Given the description of an element on the screen output the (x, y) to click on. 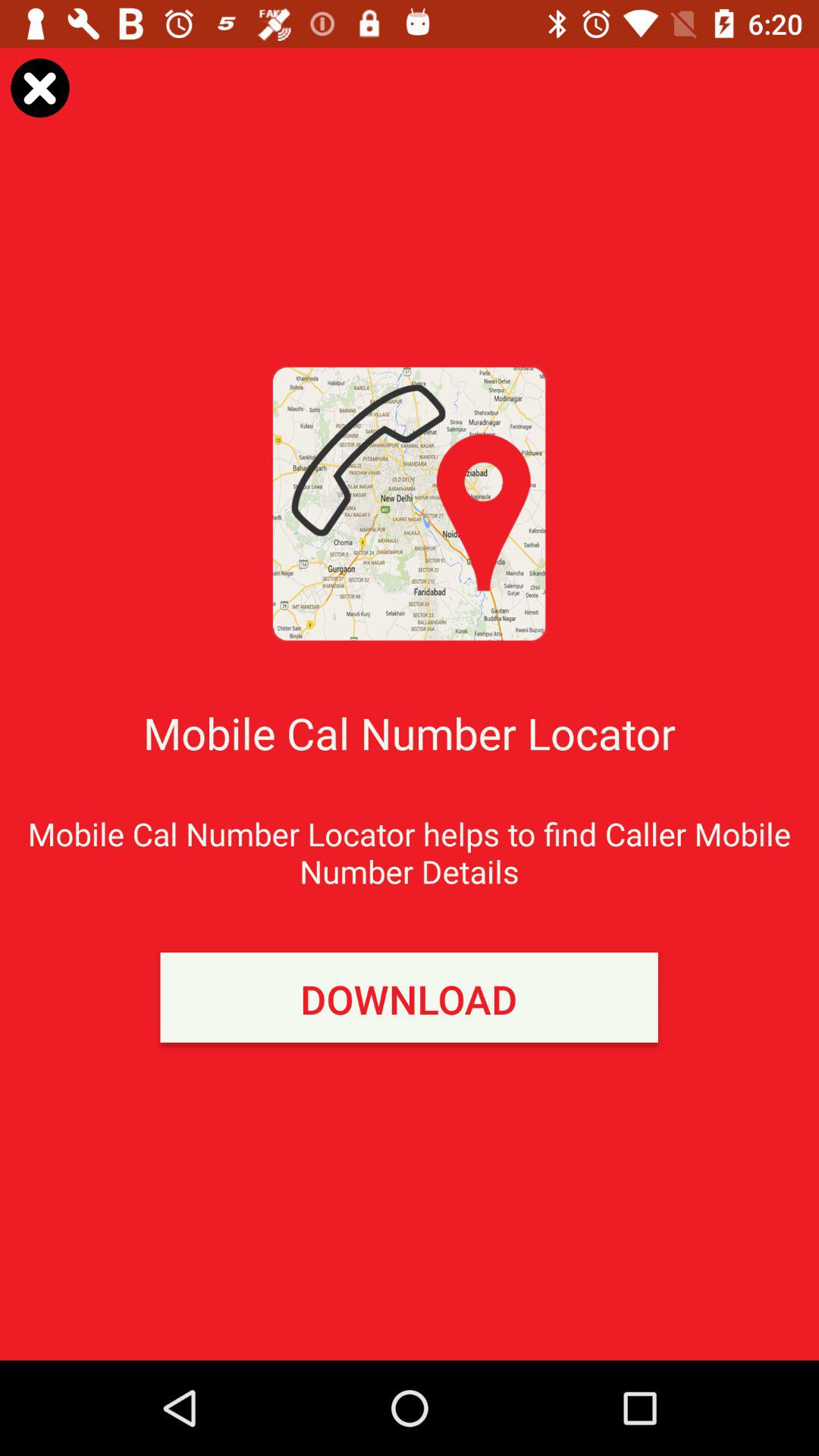
click item above the mobile cal number (39, 87)
